Given the description of an element on the screen output the (x, y) to click on. 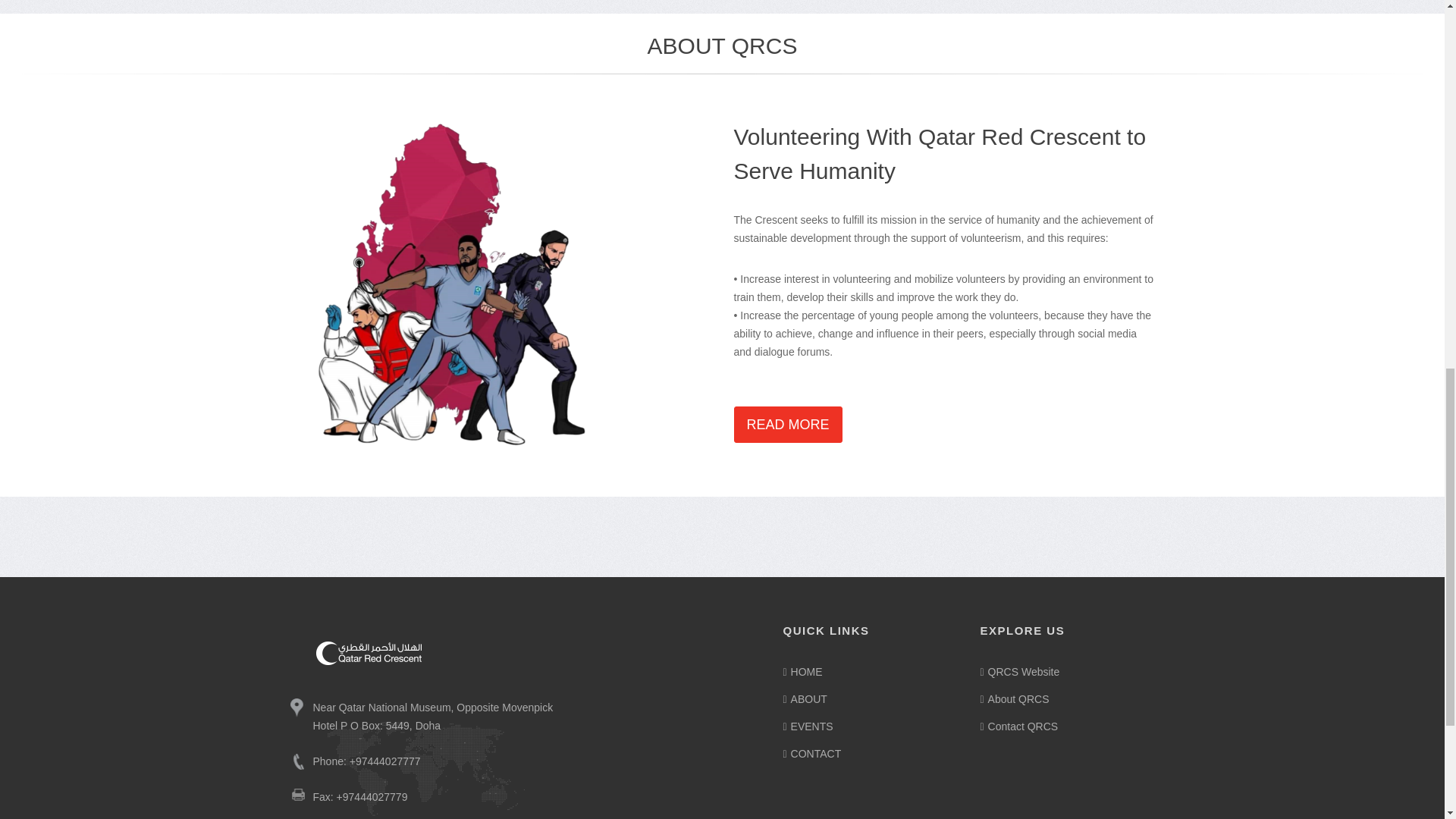
Contact QRCS (1066, 726)
EVENTS (869, 726)
ABOUT (869, 699)
HOME (869, 671)
About QRCS (1066, 699)
READ MORE (788, 424)
QRCS Website (1066, 671)
CONTACT (869, 753)
